Given the description of an element on the screen output the (x, y) to click on. 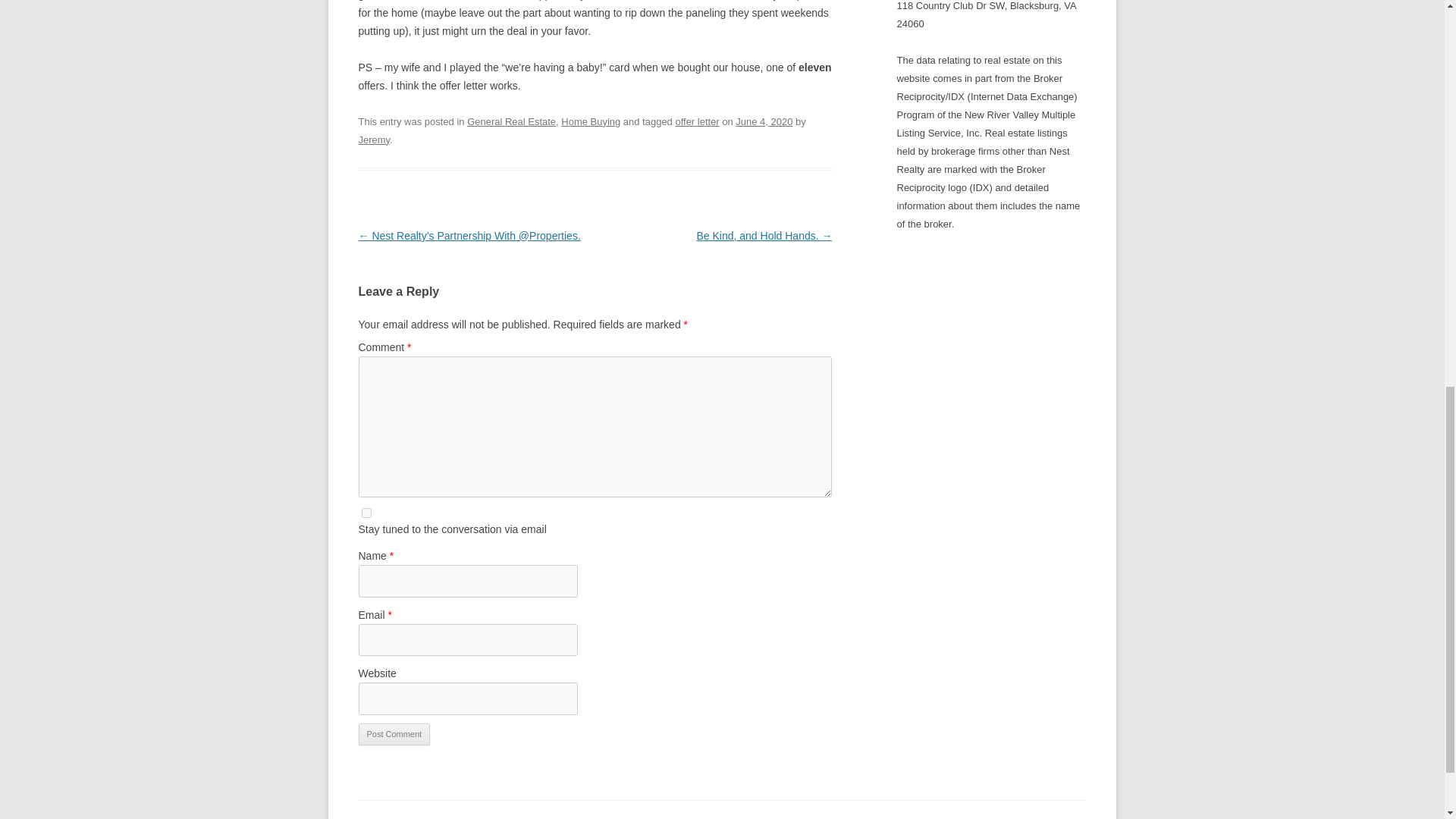
Jeremy (374, 139)
subscribe (366, 512)
offer letter (697, 121)
Post Comment (393, 734)
General Real Estate (511, 121)
3:57 AM (763, 121)
Home Buying (590, 121)
June 4, 2020 (763, 121)
Post Comment (393, 734)
View all posts by Jeremy (374, 139)
